Given the description of an element on the screen output the (x, y) to click on. 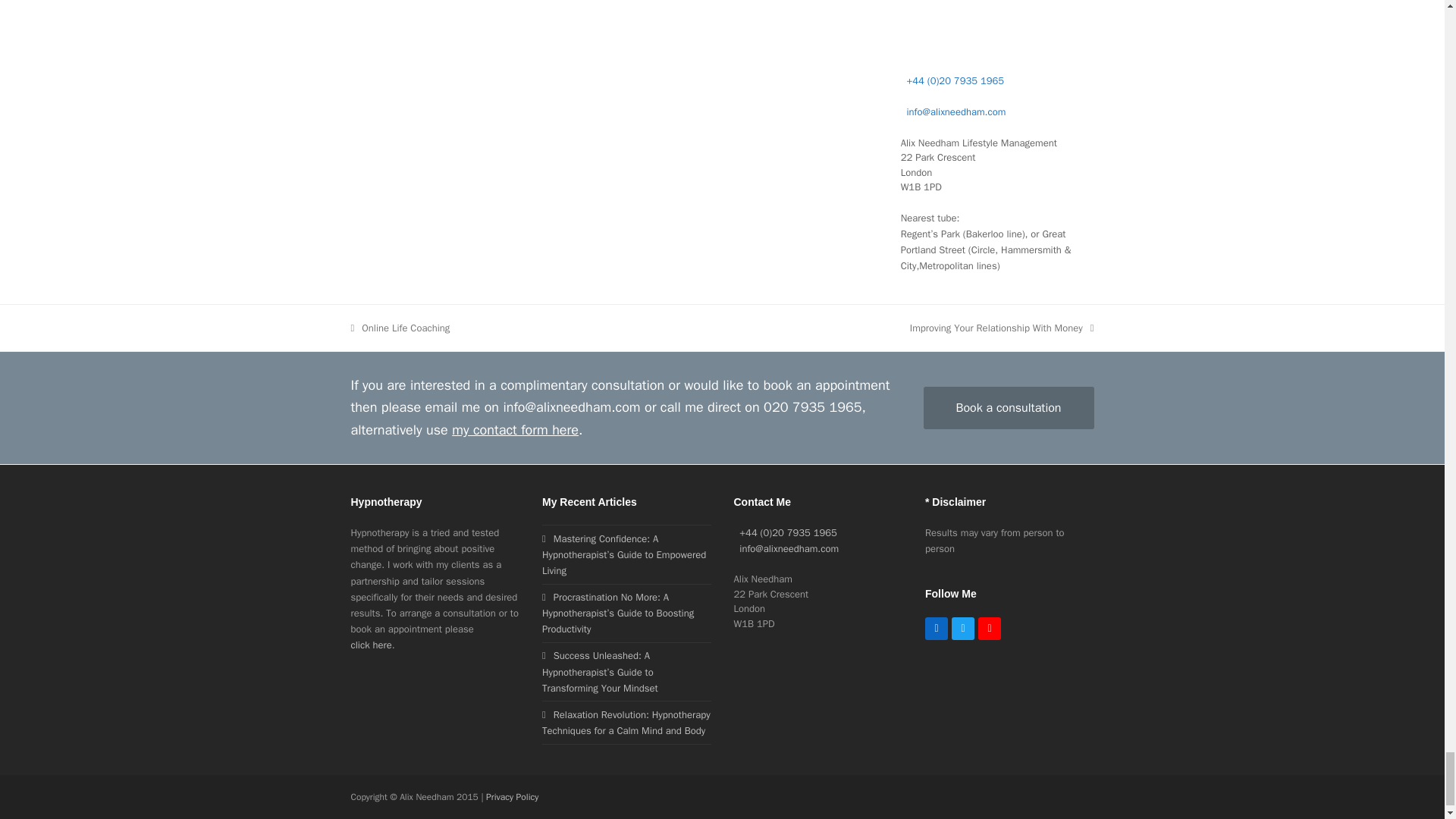
LinkedIn (935, 628)
Twitter (963, 628)
YouTube (989, 628)
Google Map (997, 24)
